Given the description of an element on the screen output the (x, y) to click on. 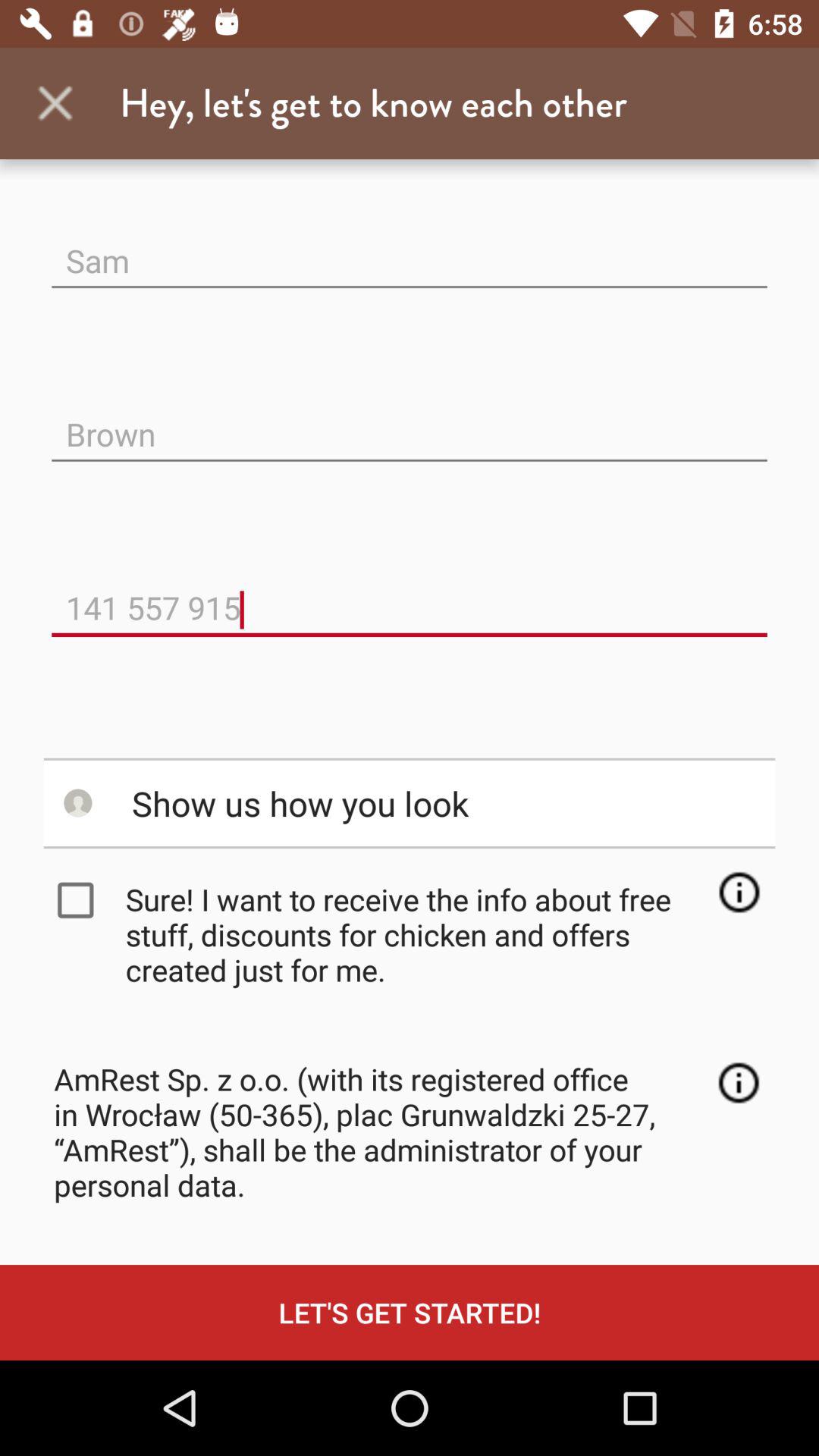
flip until sure i want (413, 934)
